Given the description of an element on the screen output the (x, y) to click on. 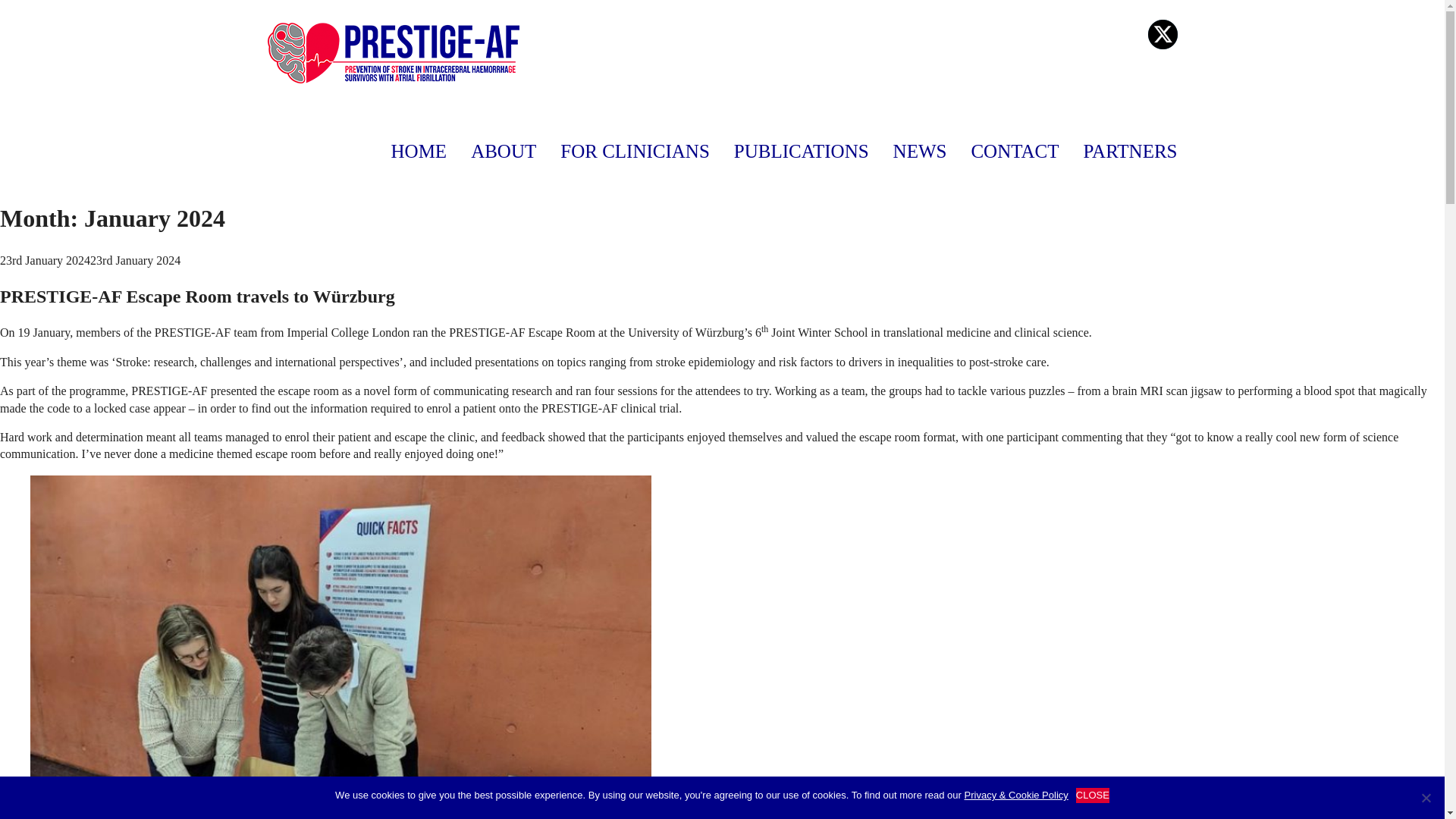
ABOUT (502, 161)
FOR CLINICIANS (635, 161)
HOME (418, 161)
PARTNERS (1129, 161)
CONTACT (1014, 161)
prestige (392, 52)
PUBLICATIONS (801, 161)
twitter (1162, 34)
NEWS (920, 161)
23rd January 202423rd January 2024 (90, 259)
No (1425, 797)
